Given the description of an element on the screen output the (x, y) to click on. 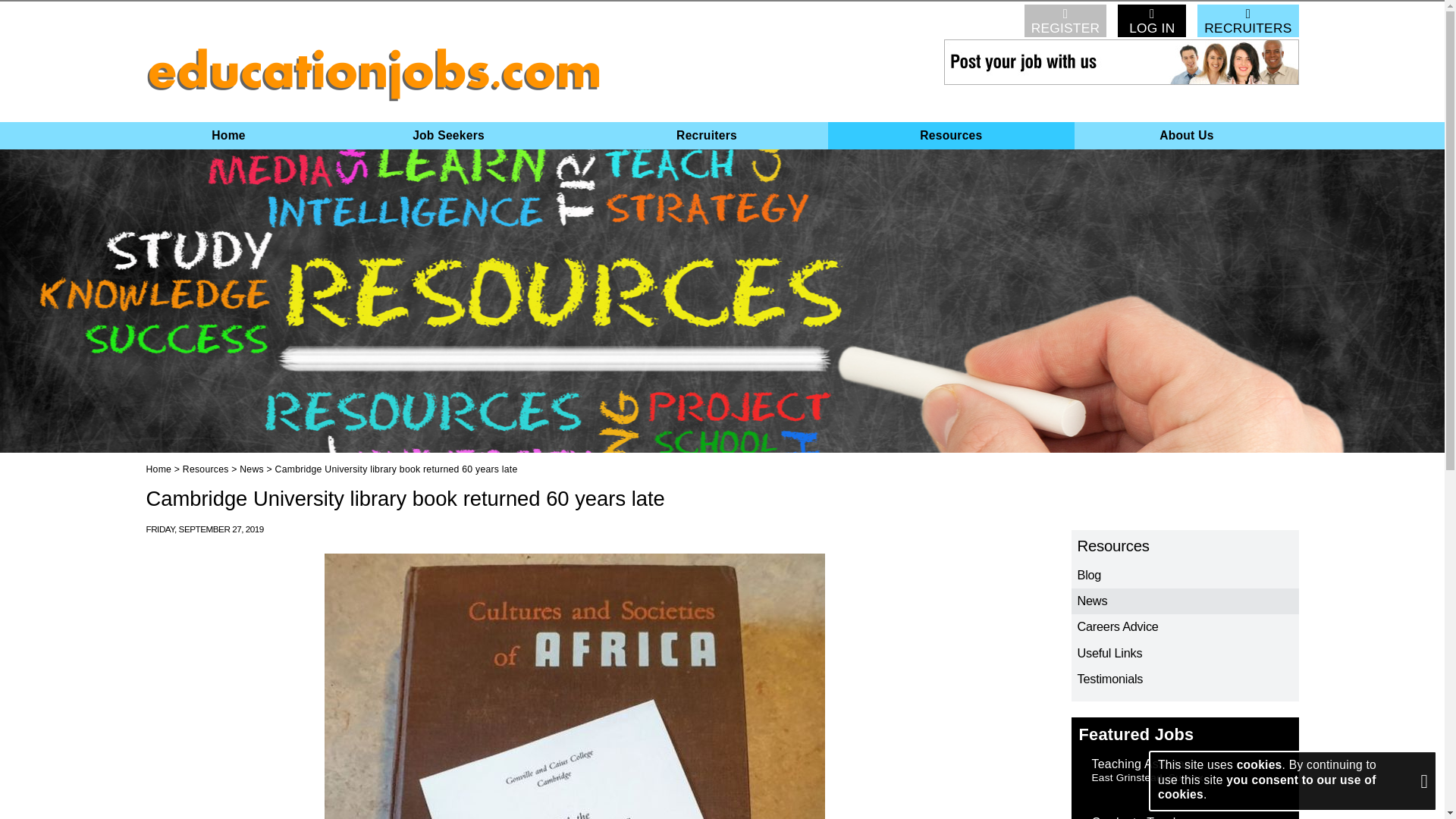
Graduate Teacher (1141, 817)
Testimonials (1184, 679)
Recruiters (706, 135)
Home (228, 135)
Resources (951, 135)
Job Seekers (448, 135)
Resources (205, 469)
News (1184, 601)
News (251, 469)
LOG IN (1152, 20)
RECRUITERS (1247, 20)
Teaching Assistant (1143, 763)
Teaching Assistant (1143, 763)
Blog (1184, 575)
Resources (1184, 545)
